Given the description of an element on the screen output the (x, y) to click on. 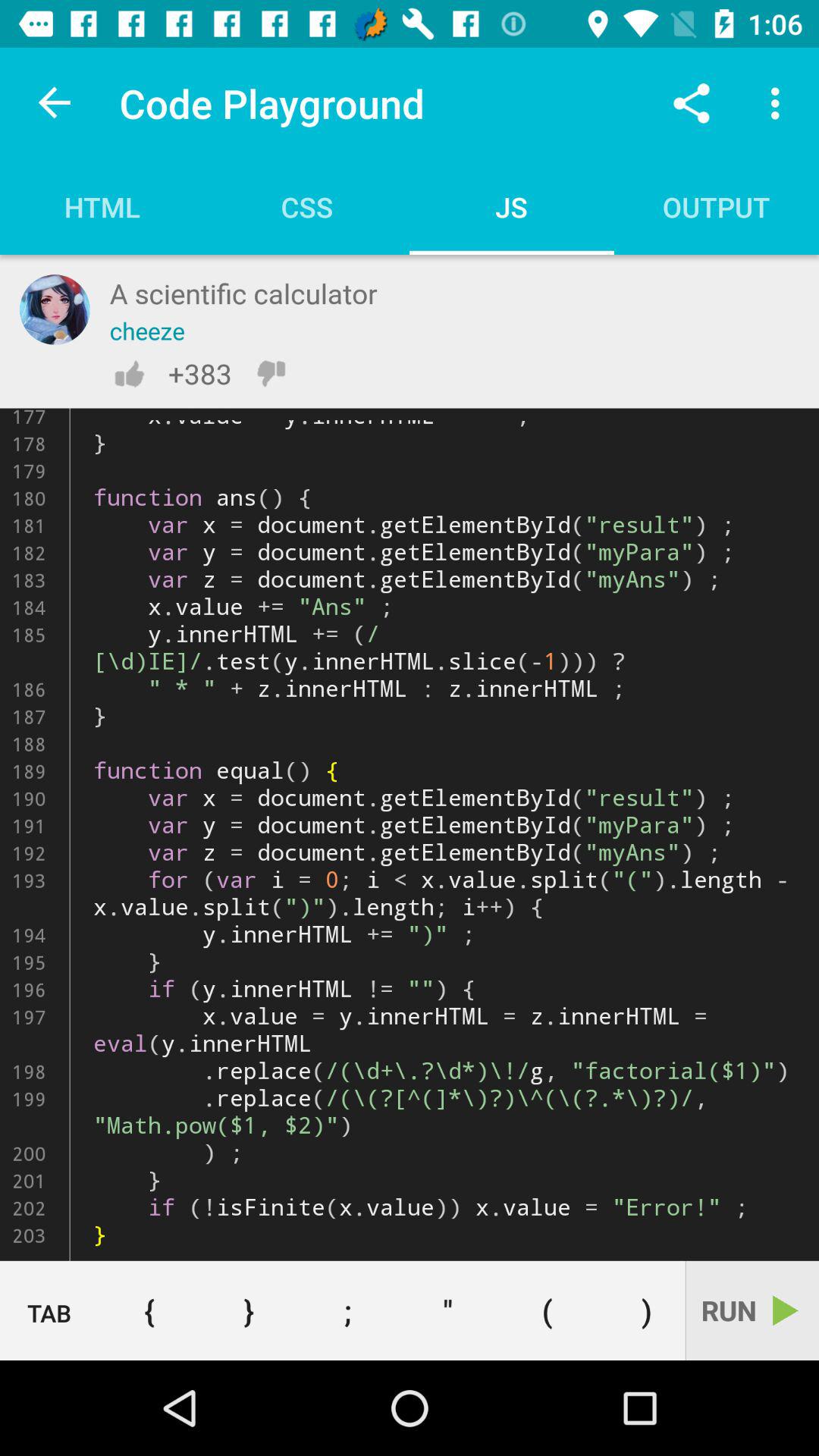
thumbs down rating (270, 373)
